Given the description of an element on the screen output the (x, y) to click on. 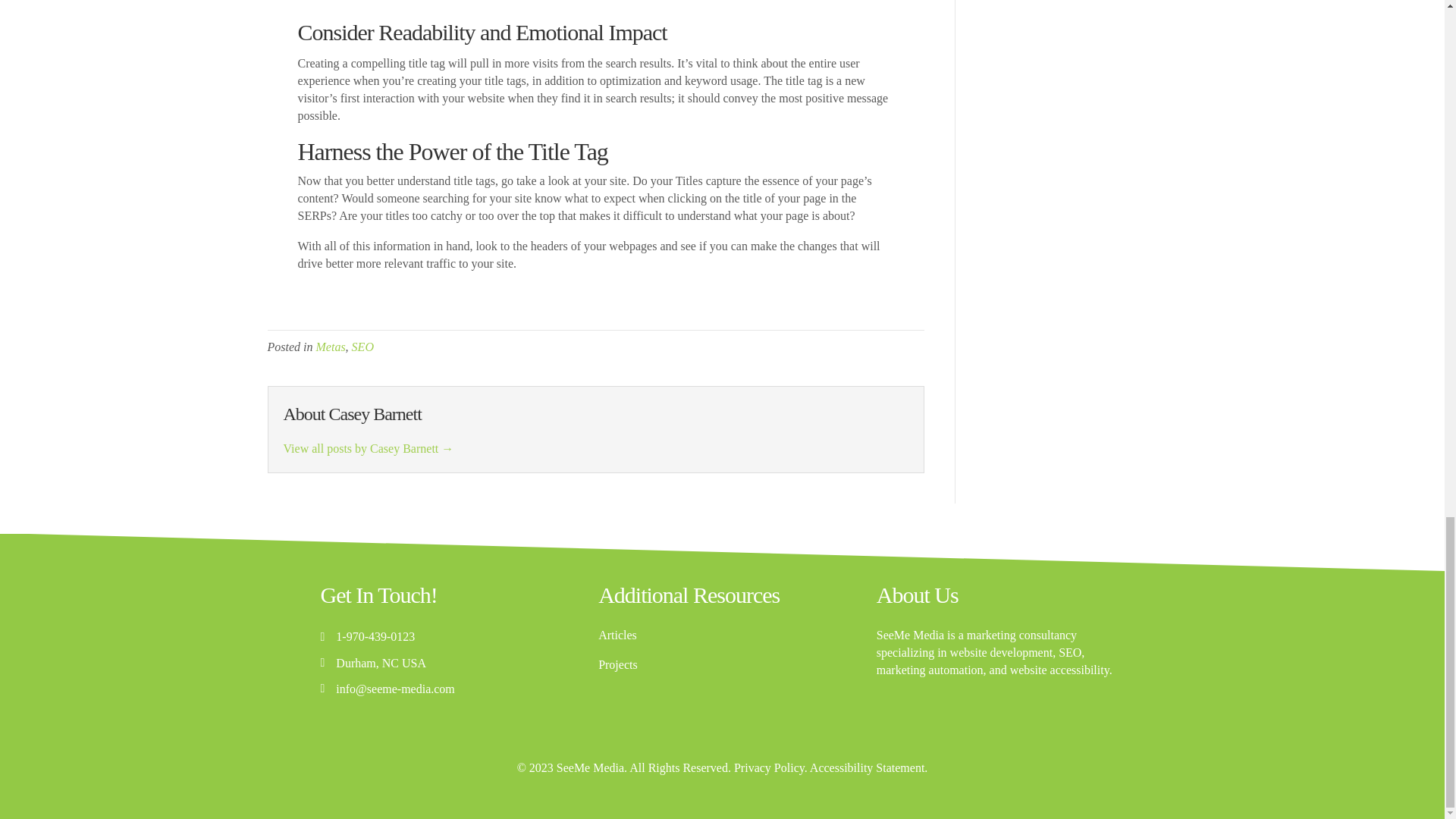
Articles (617, 634)
Metas (330, 346)
1-970-439-0123 (375, 636)
Accessibility Statement (866, 767)
SEO (363, 346)
Privacy Policy (769, 767)
Durham, NC USA (381, 662)
Projects (617, 664)
